Given the description of an element on the screen output the (x, y) to click on. 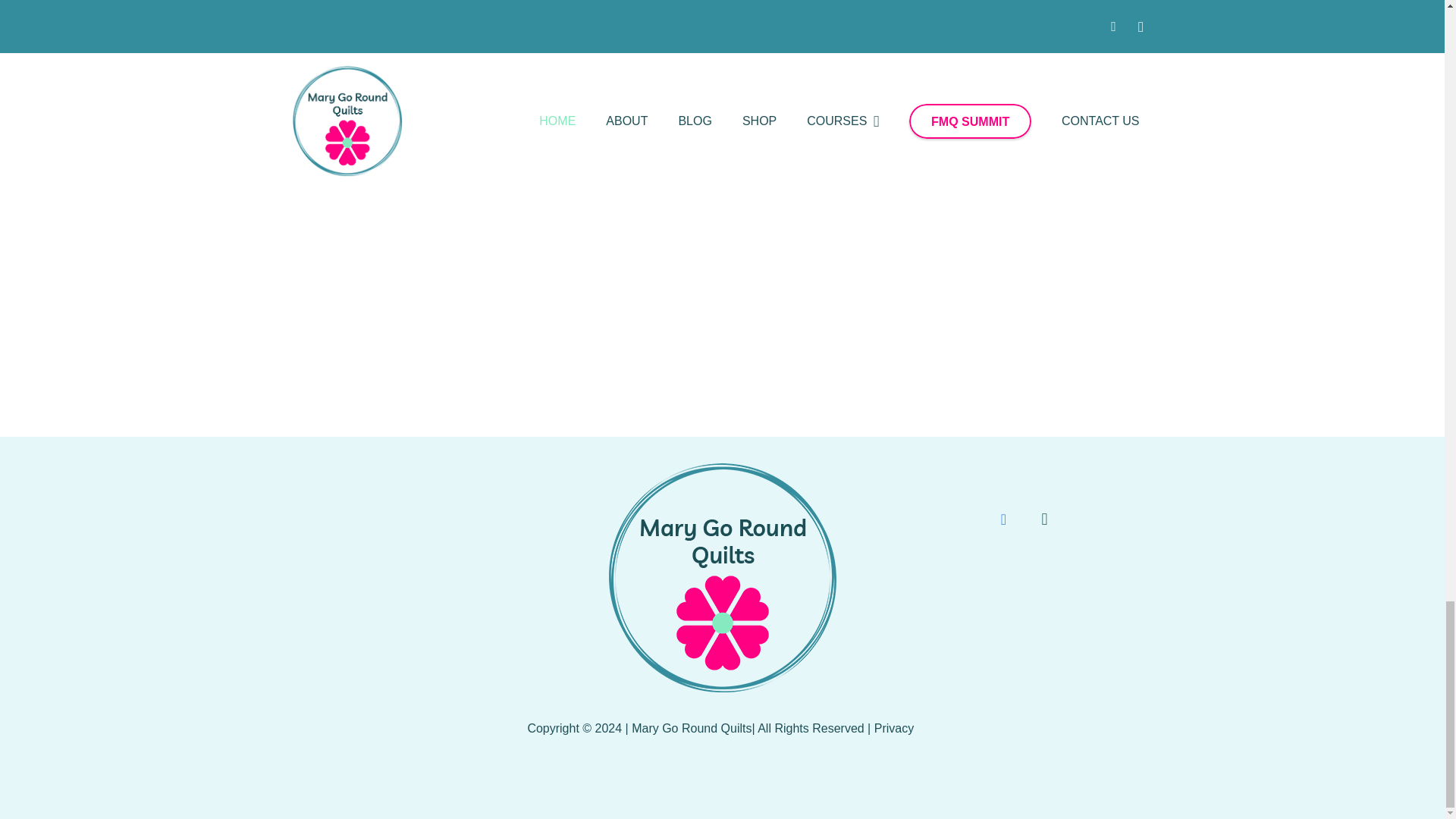
Instagram (1043, 519)
Privacy Policy (896, 727)
Facebook (1003, 519)
